Given the description of an element on the screen output the (x, y) to click on. 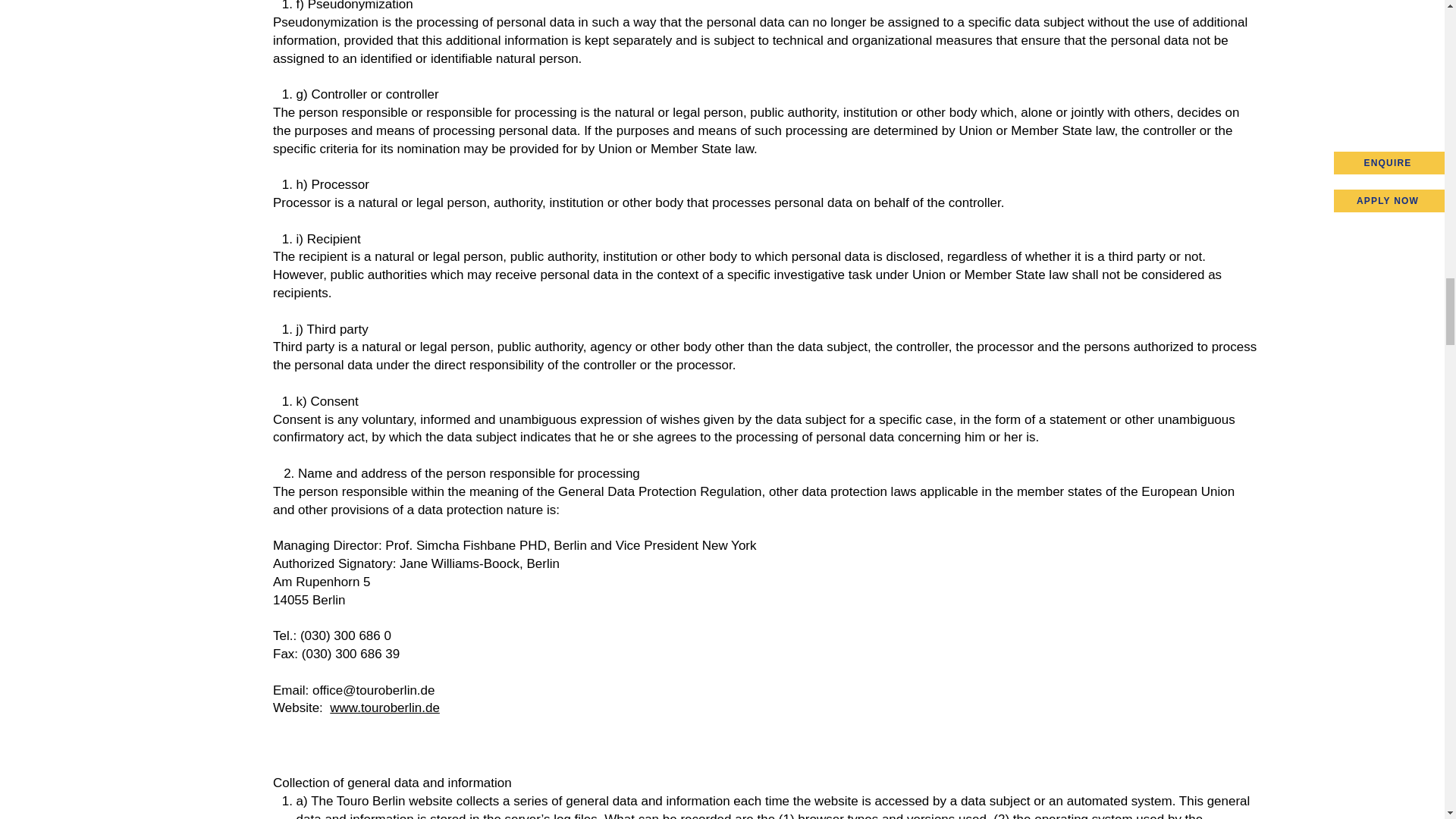
www.touroberlin.de (384, 707)
